Given the description of an element on the screen output the (x, y) to click on. 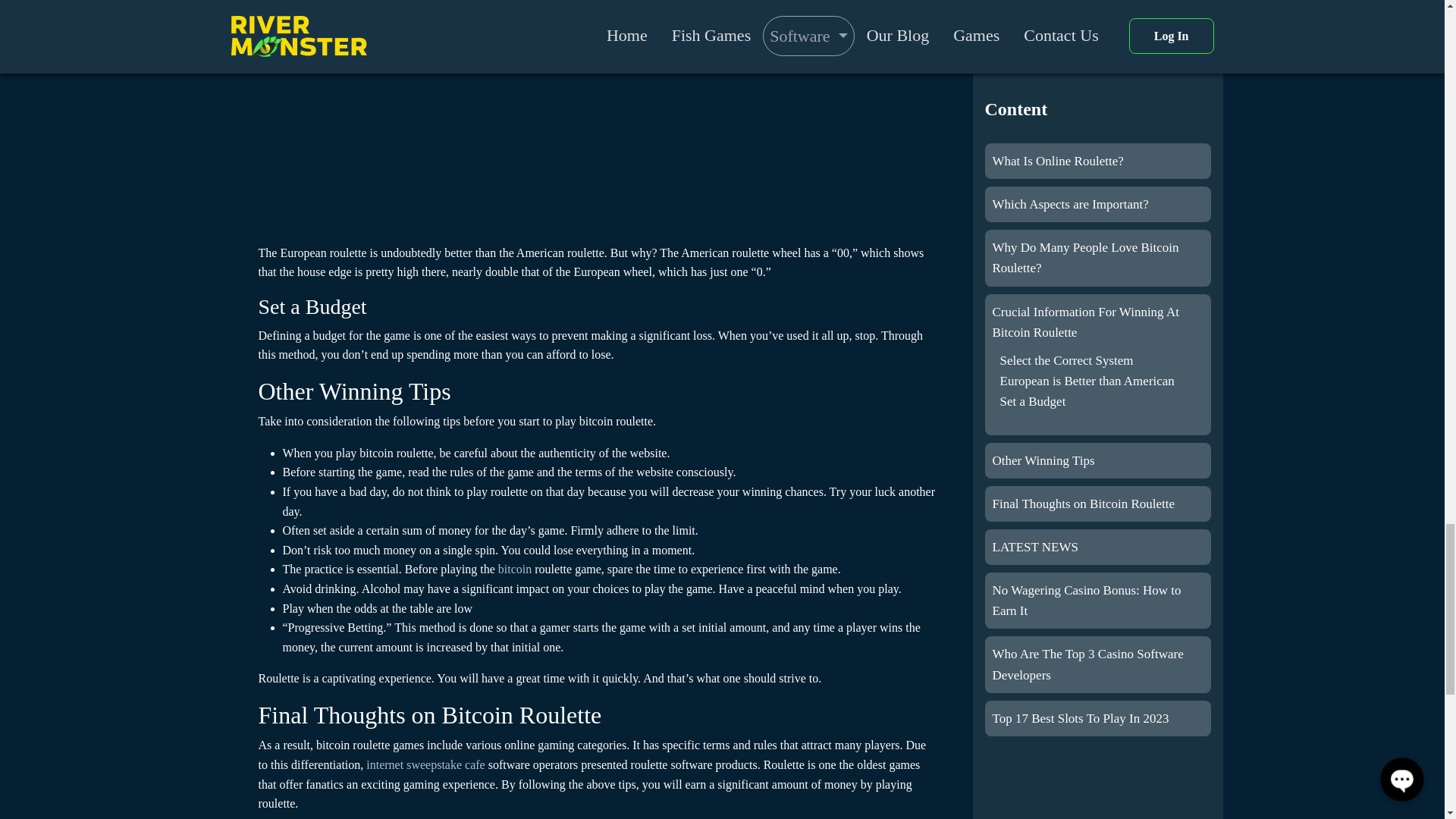
internet sweepstake cafe (425, 764)
bitcoin  (515, 568)
